Given the description of an element on the screen output the (x, y) to click on. 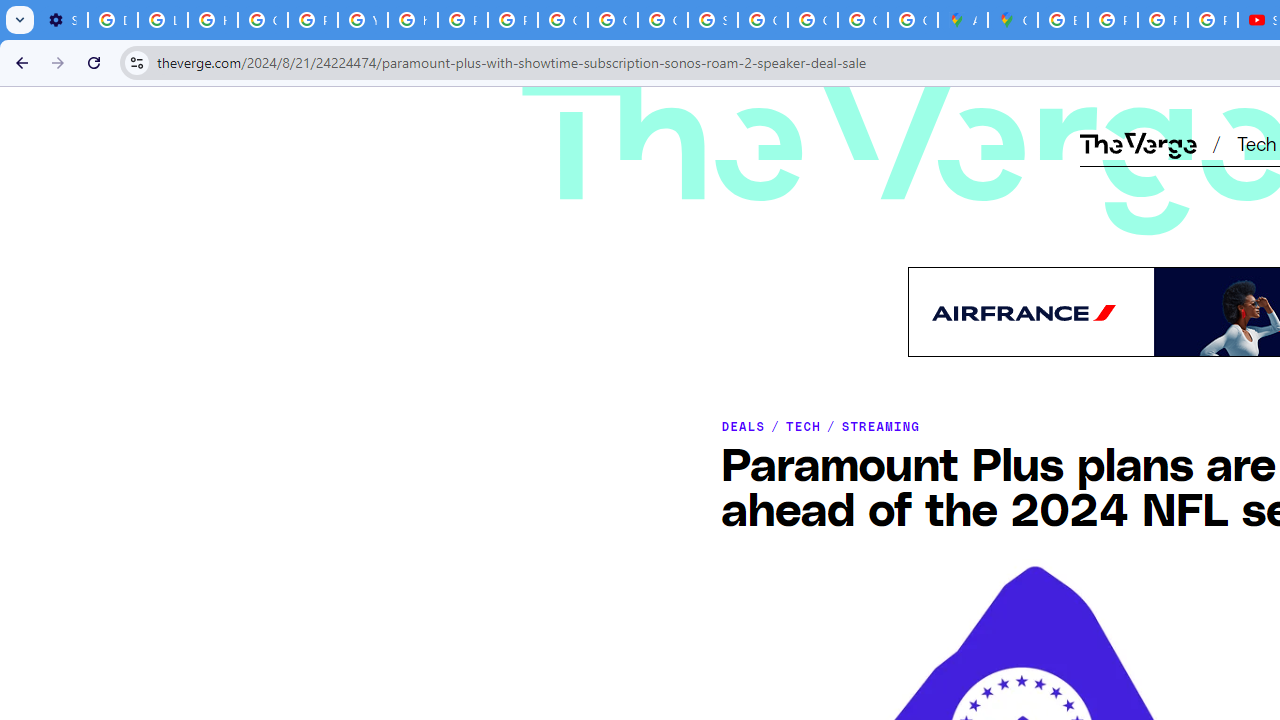
Google Account Help (262, 20)
Privacy Help Center - Policies Help (1112, 20)
Tech (1256, 142)
https://scholar.google.com/ (412, 20)
Google Maps (1013, 20)
DEALS (742, 425)
TECH (802, 425)
Settings - Customize profile (62, 20)
